Given the description of an element on the screen output the (x, y) to click on. 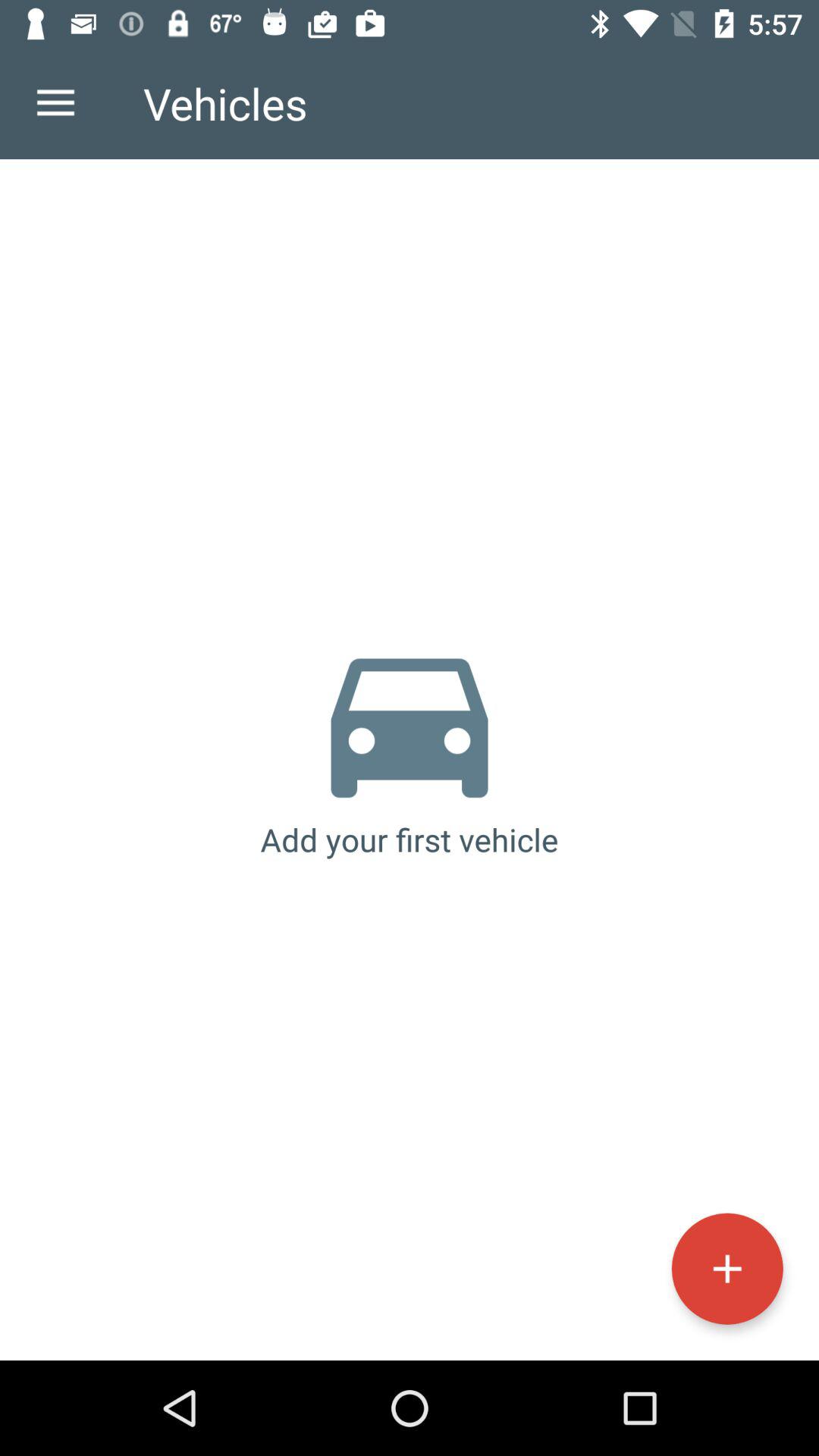
choose the item below add your first (727, 1268)
